Given the description of an element on the screen output the (x, y) to click on. 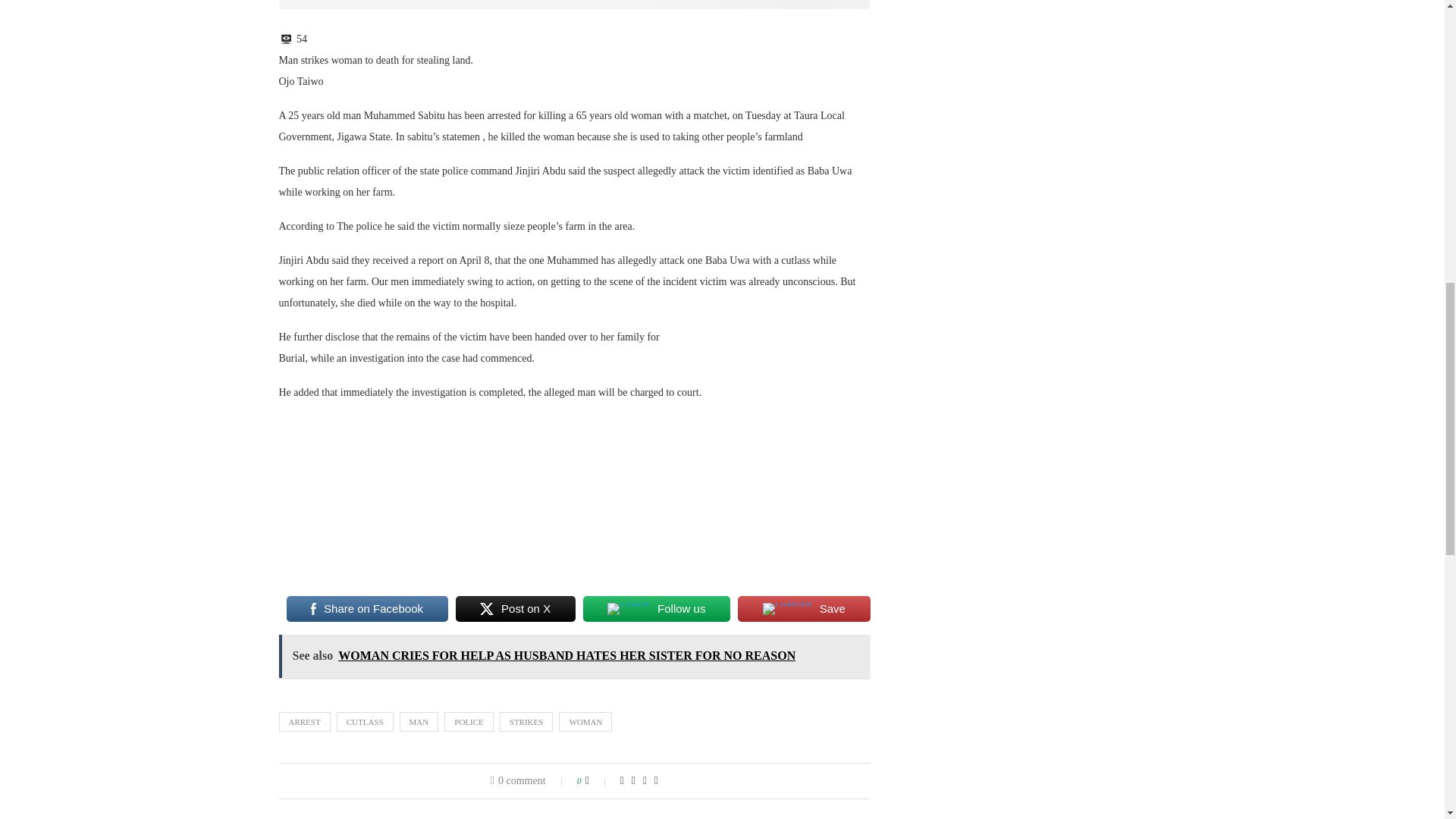
man attack wooman with a cutlass.picture (574, 4)
Like (597, 780)
